Given the description of an element on the screen output the (x, y) to click on. 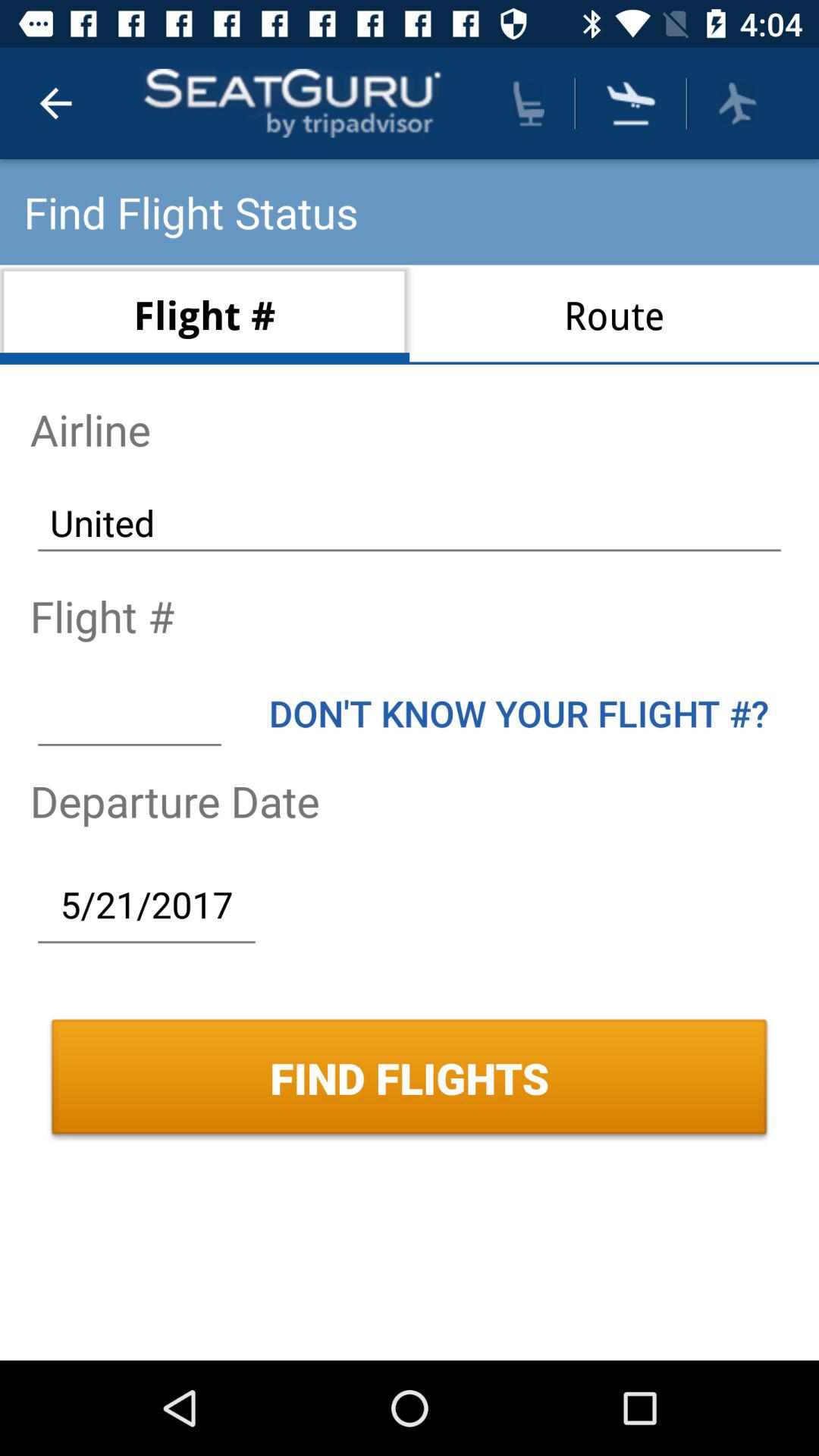
turn on item below united item (518, 712)
